Given the description of an element on the screen output the (x, y) to click on. 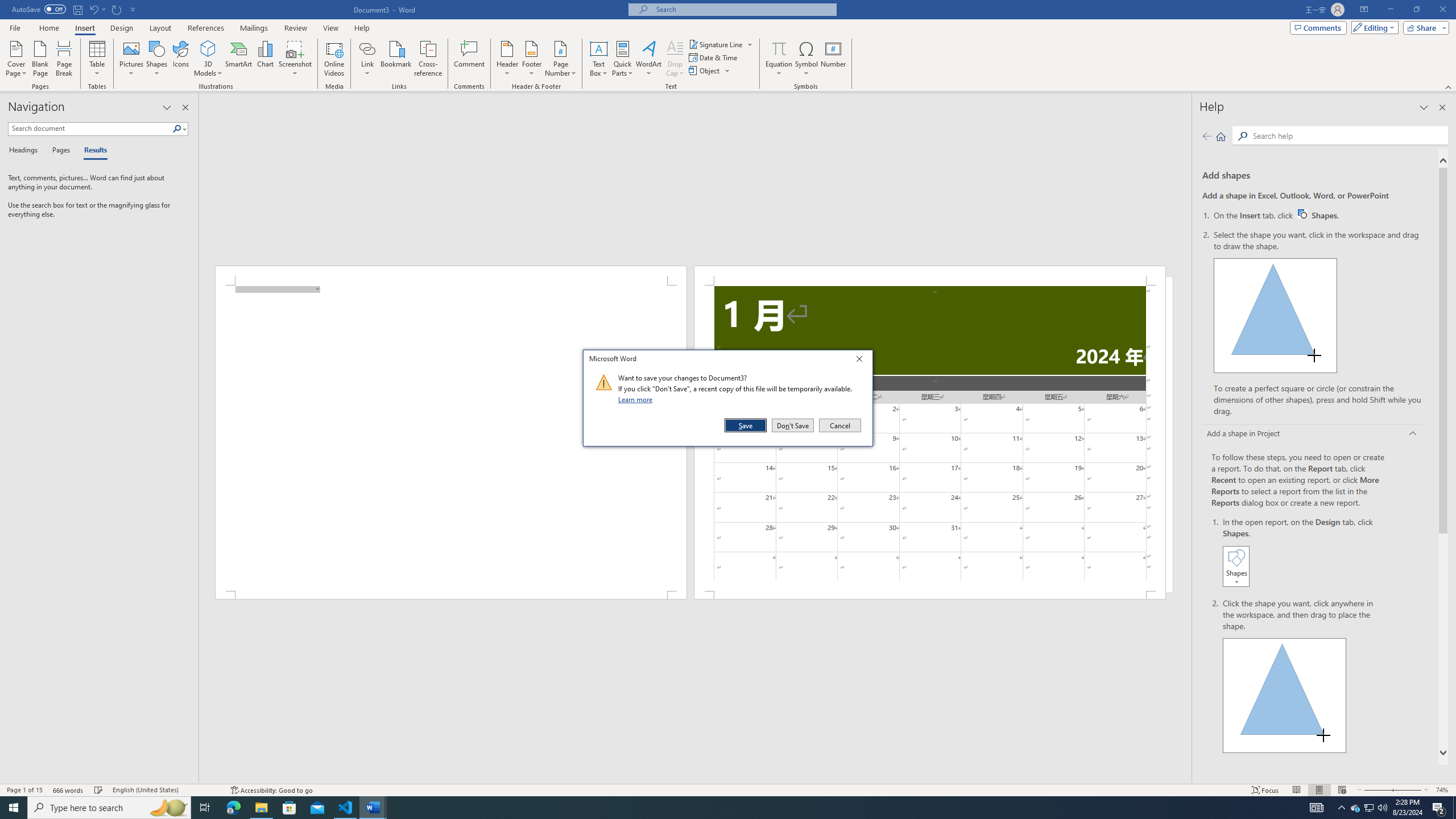
Date & Time... (714, 56)
Comments (1318, 27)
References (205, 28)
Pictures (131, 58)
Number... (833, 58)
System (6, 6)
Read Mode (1296, 790)
Focus  (1265, 790)
Equation (778, 48)
Drop Cap (674, 58)
Type here to search (1368, 807)
Help (108, 807)
Restore Down (361, 28)
